Given the description of an element on the screen output the (x, y) to click on. 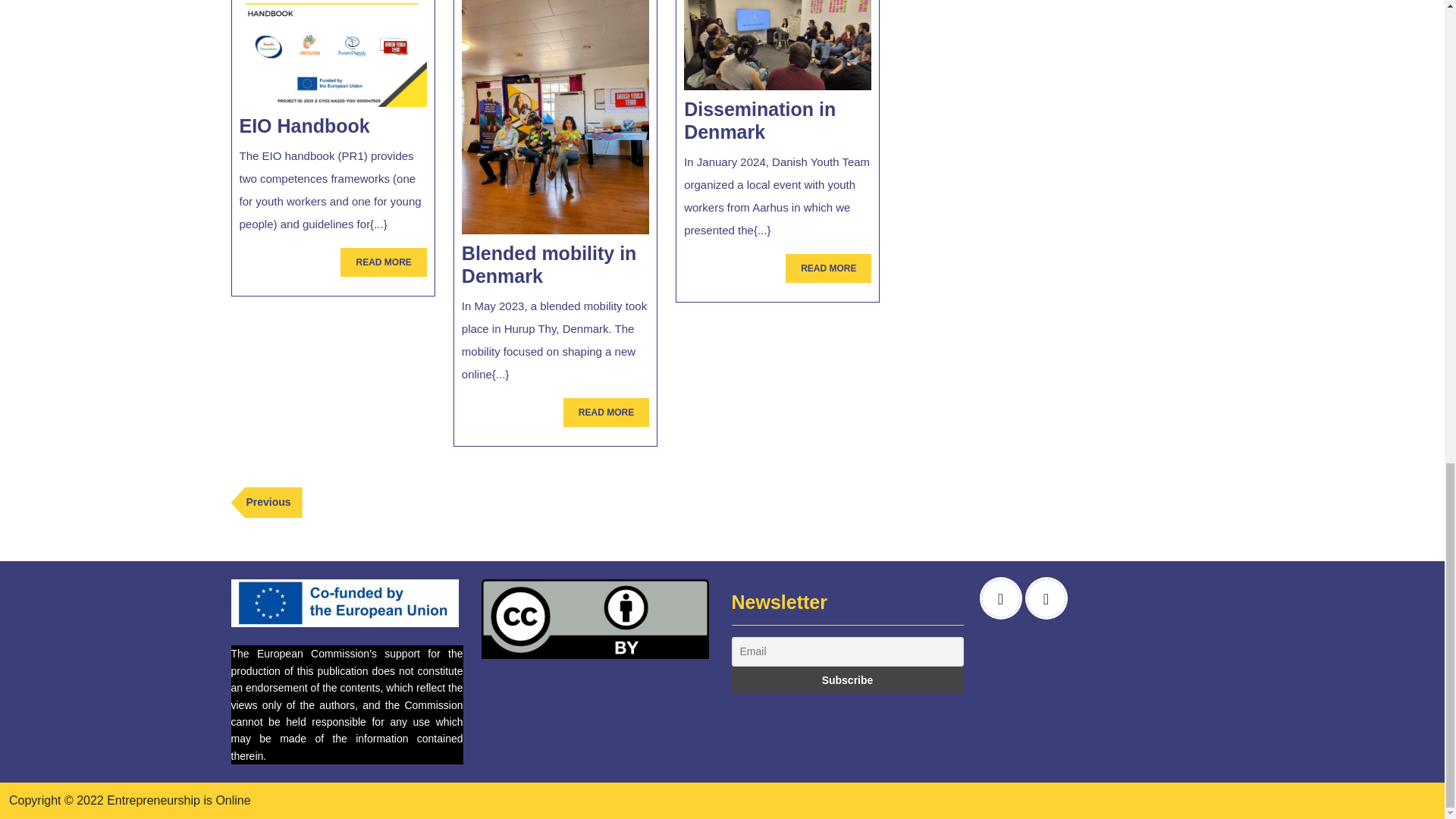
Subscribe (759, 120)
Dissemination in Denmark (383, 262)
EIO Handbook (265, 501)
Blended mobility in Denmark (606, 412)
